Given the description of an element on the screen output the (x, y) to click on. 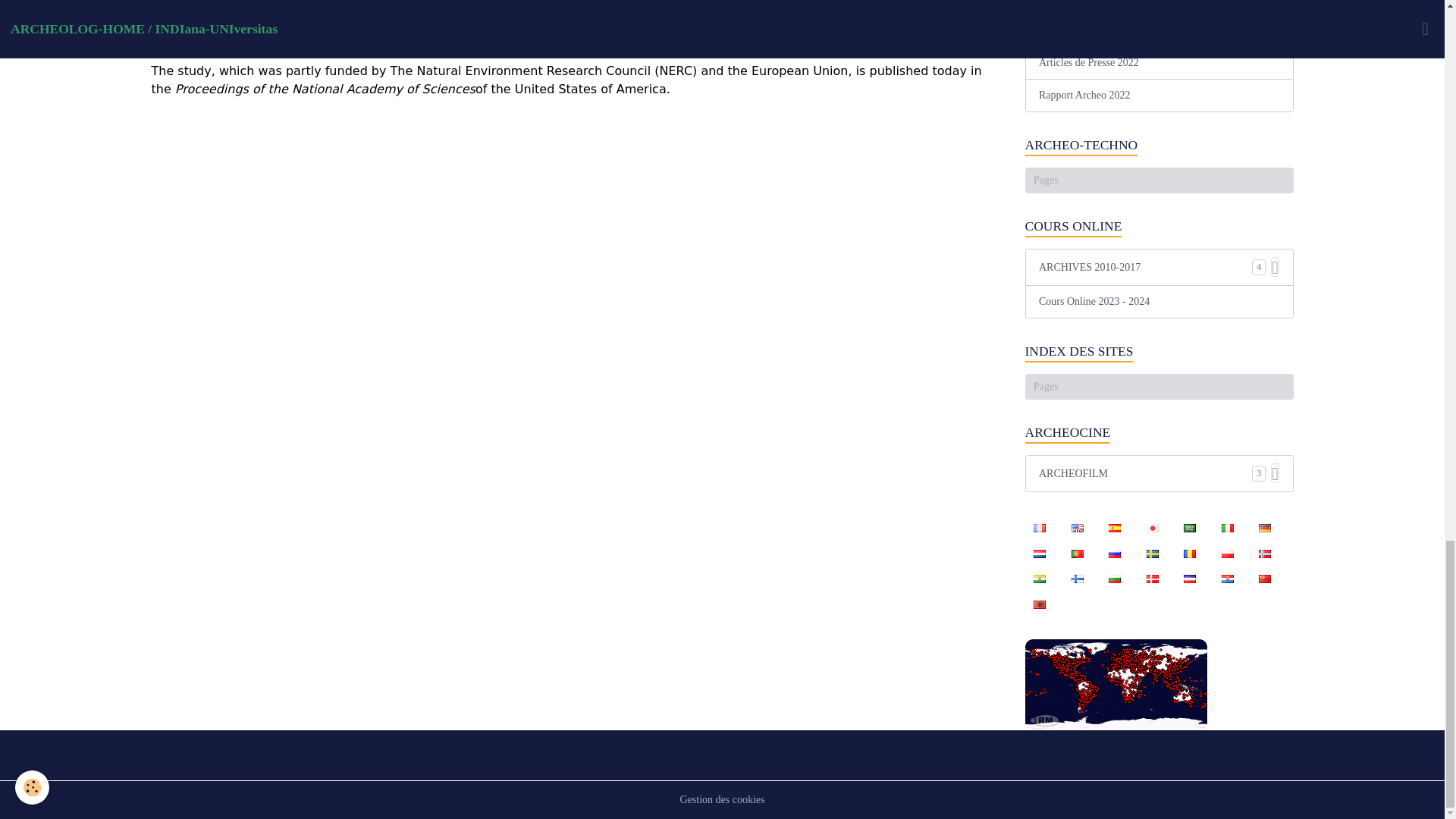
Japanese (1152, 527)
Hindi (1039, 578)
Norwegian (1264, 552)
Nederlands (1039, 552)
Arabic (1189, 527)
Deutsch (1264, 527)
Finnish (1077, 578)
Danish (1152, 578)
Romanian (1189, 552)
Bulgarian (1114, 578)
Polish (1226, 552)
Russian (1114, 552)
English (1077, 527)
Swedish (1152, 552)
Portuguesa (1077, 552)
